Given the description of an element on the screen output the (x, y) to click on. 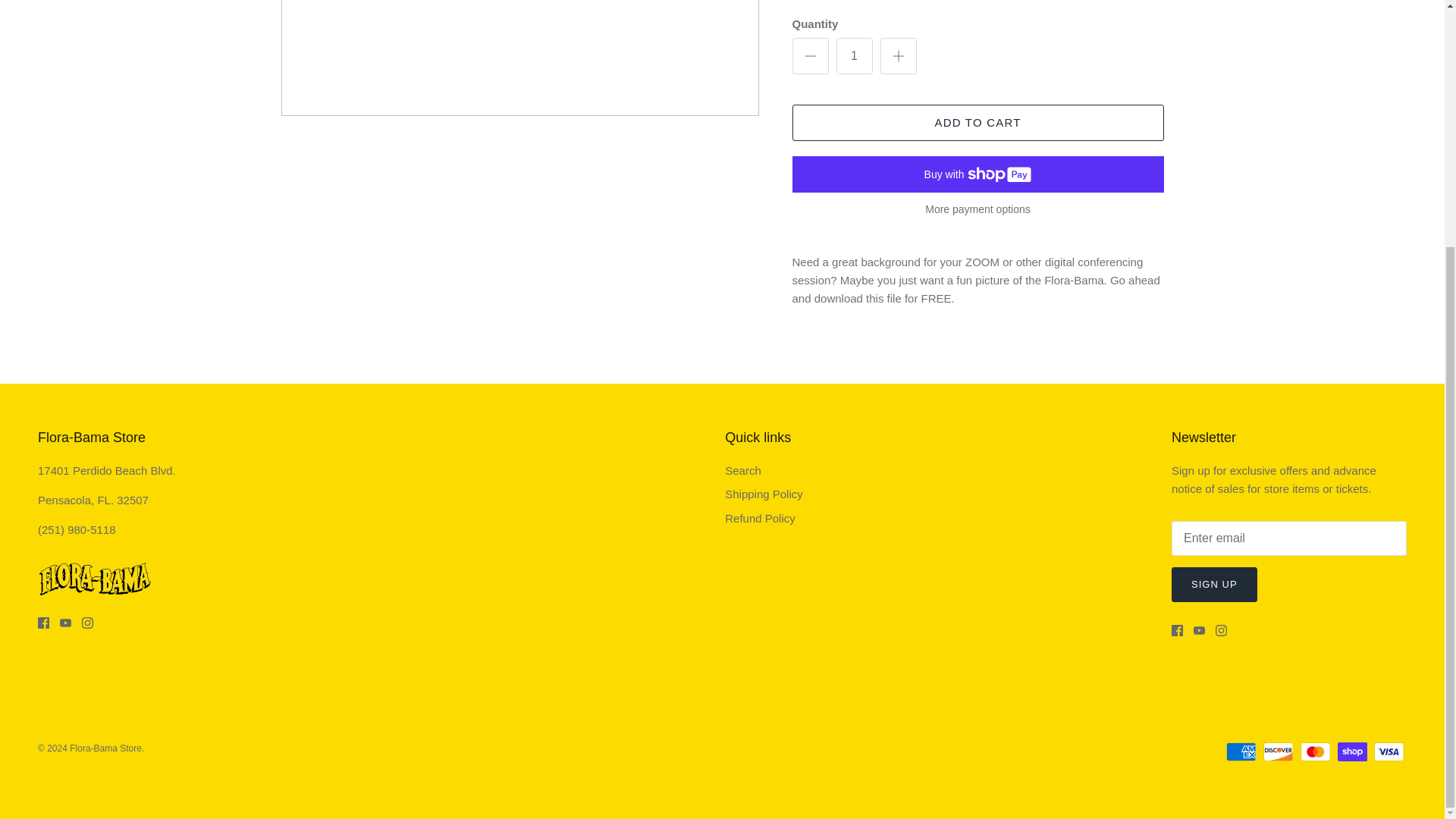
Instagram (87, 622)
1 (853, 55)
Facebook (43, 622)
Shop Pay (1352, 751)
Discover (1277, 751)
Minus (809, 55)
Plus (897, 55)
American Express (1240, 751)
Instagram (1221, 630)
Youtube (1199, 630)
